Given the description of an element on the screen output the (x, y) to click on. 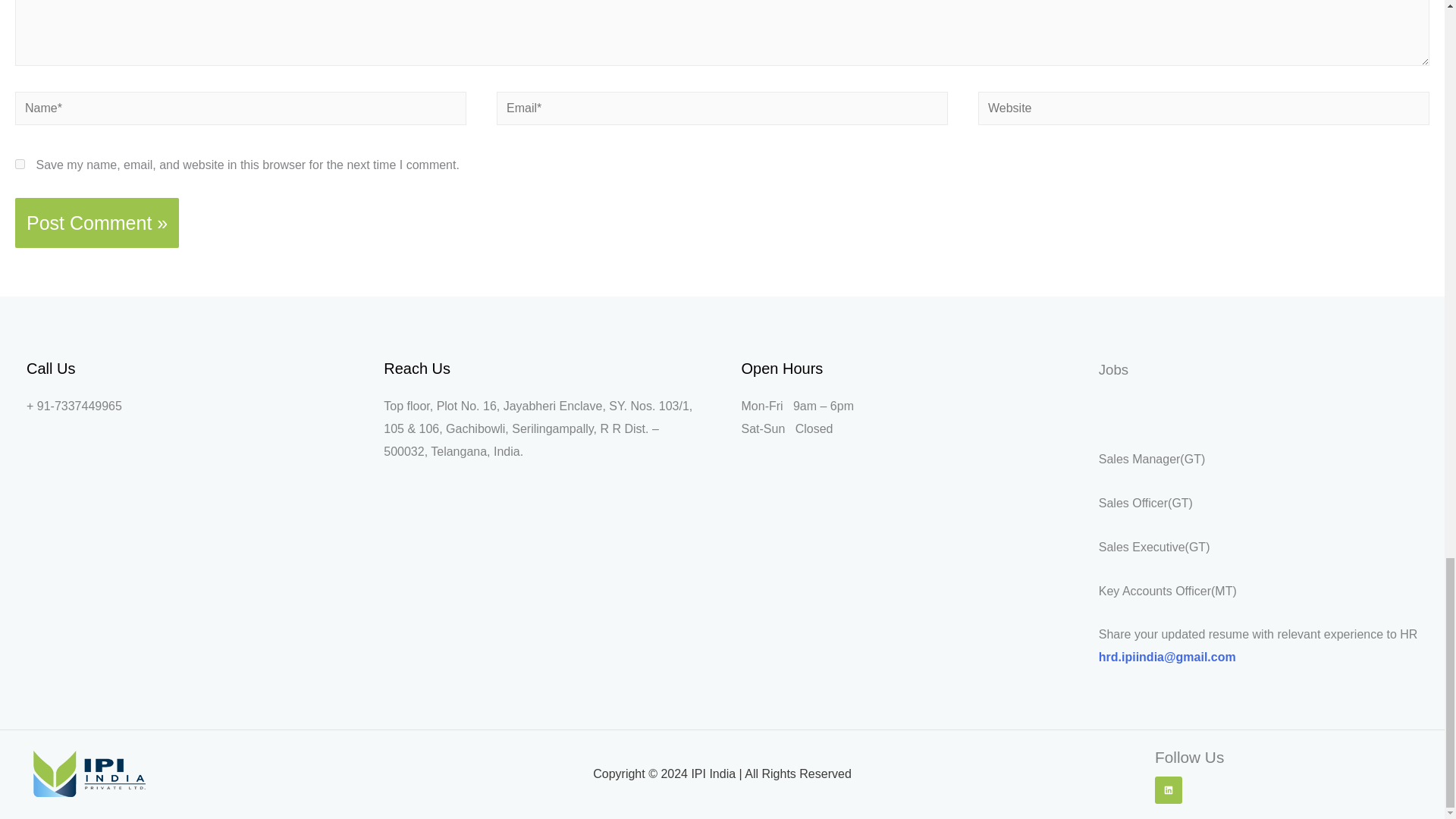
yes (19, 163)
